Given the description of an element on the screen output the (x, y) to click on. 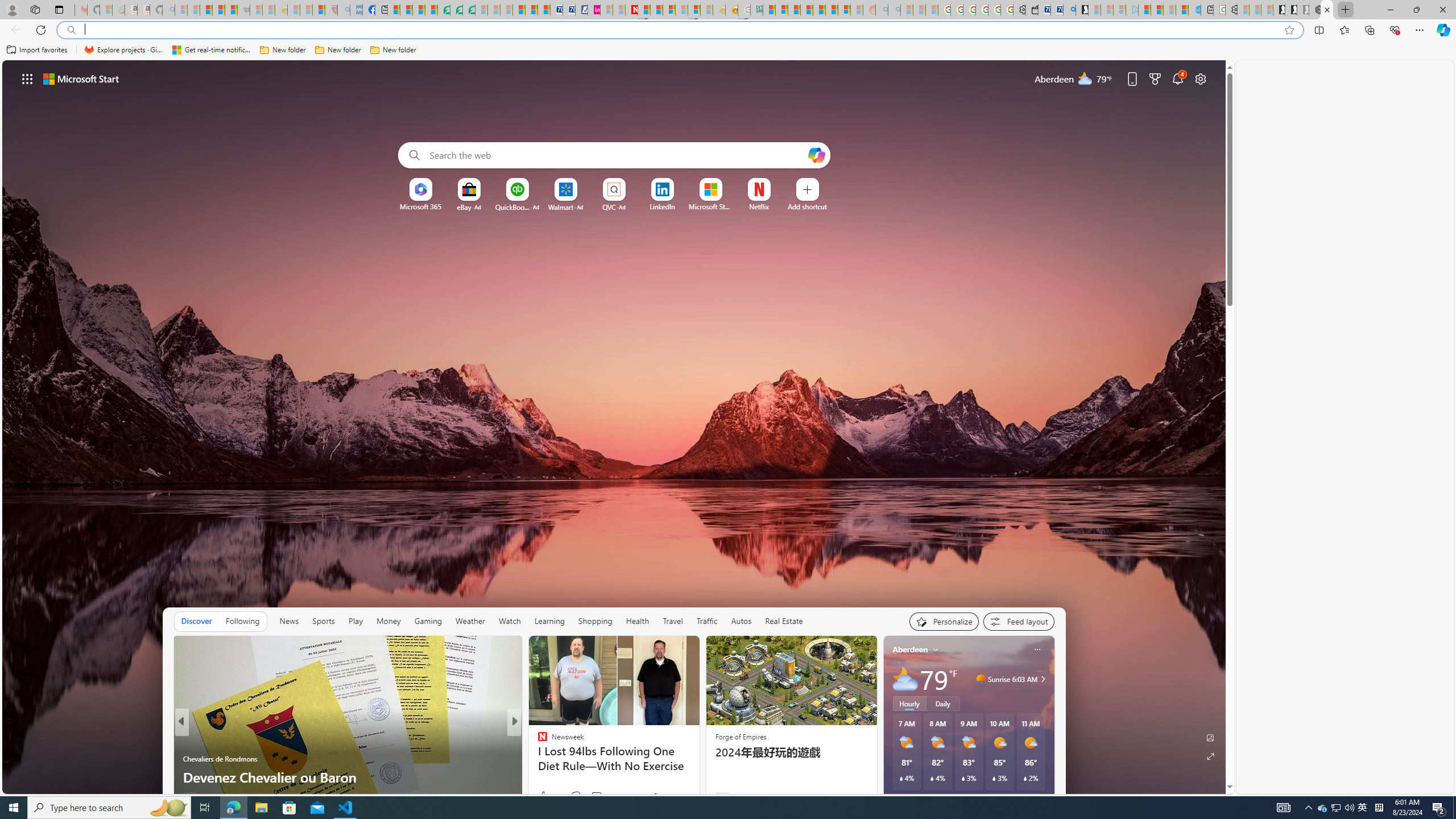
Jobs - lastminute.com Investor Portal (593, 9)
Add a site (807, 206)
Ad Choice (863, 797)
New folder (392, 49)
Microsoft Start Gaming (1082, 9)
AutomationID: backgroundImagePicture (613, 426)
Search icon (70, 29)
Ad (721, 796)
Start the conversation (589, 796)
